Given the description of an element on the screen output the (x, y) to click on. 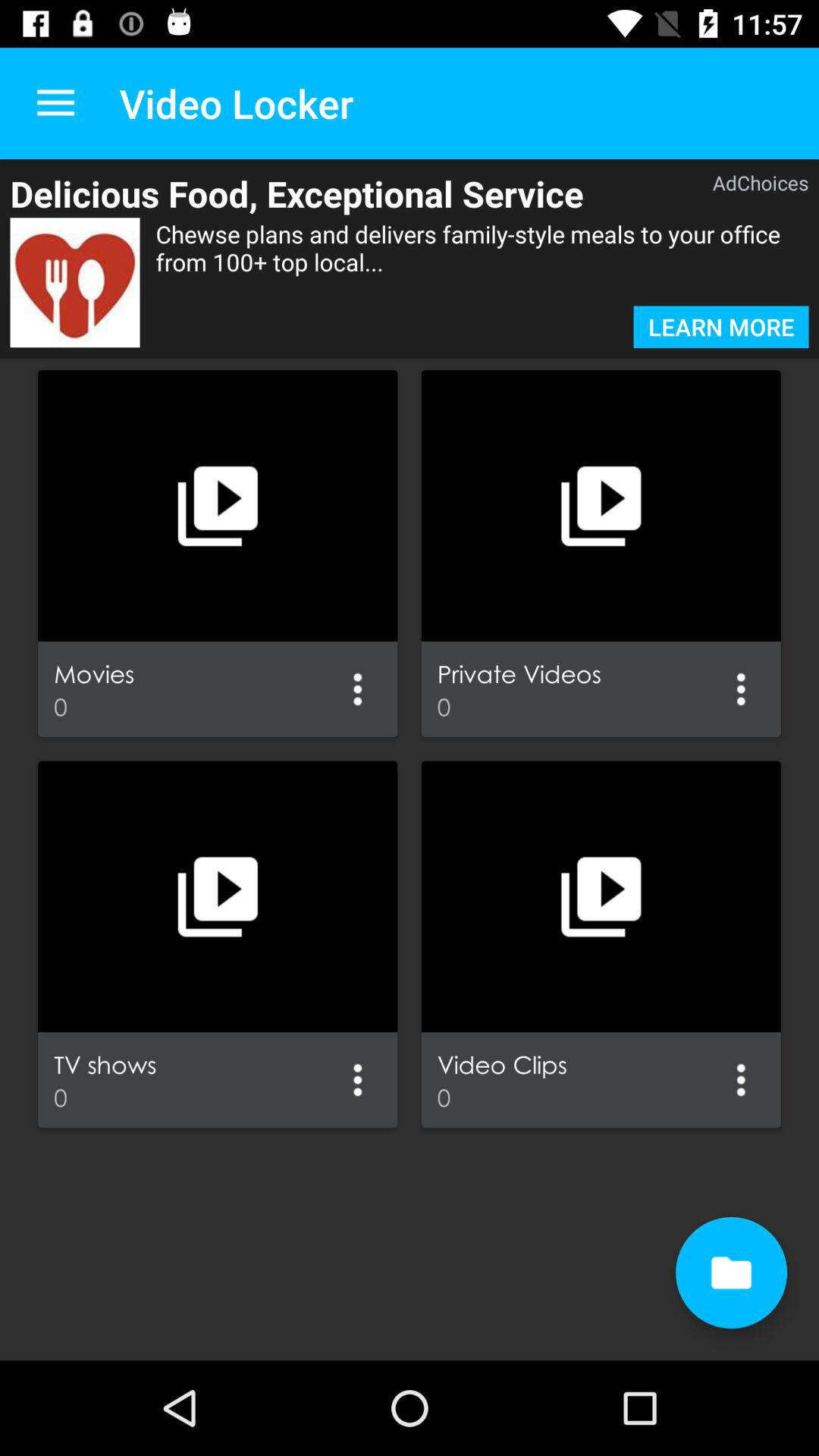
turn on item next to chewse plans and item (74, 282)
